Given the description of an element on the screen output the (x, y) to click on. 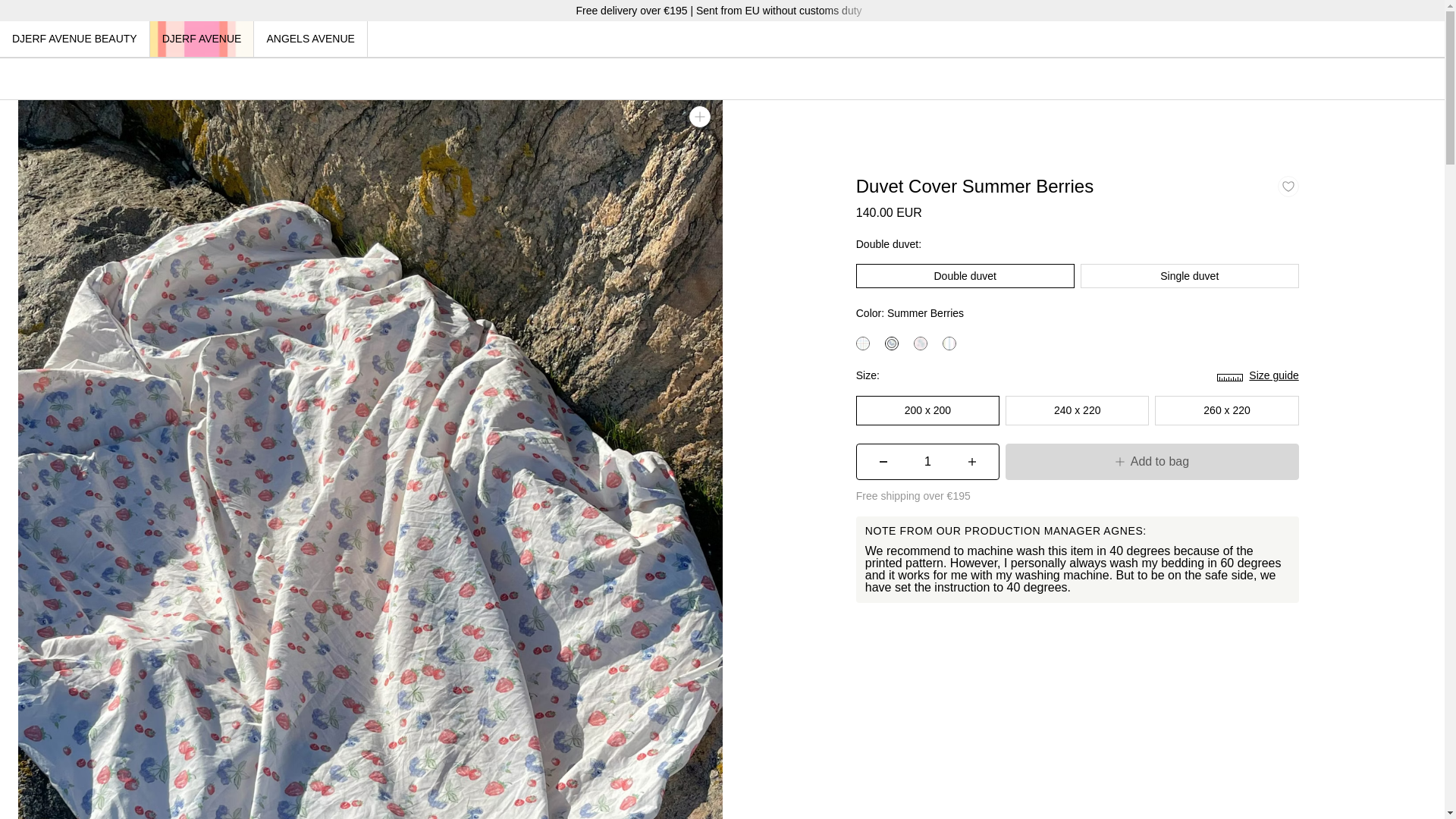
Summer Berries (891, 343)
ANGELS AVENUE (309, 38)
DJERF AVENUE (201, 38)
DJERF AVENUE BEAUTY (74, 38)
Gingham (862, 343)
Summer Rainbow (949, 343)
Summer Island (920, 343)
